Given the description of an element on the screen output the (x, y) to click on. 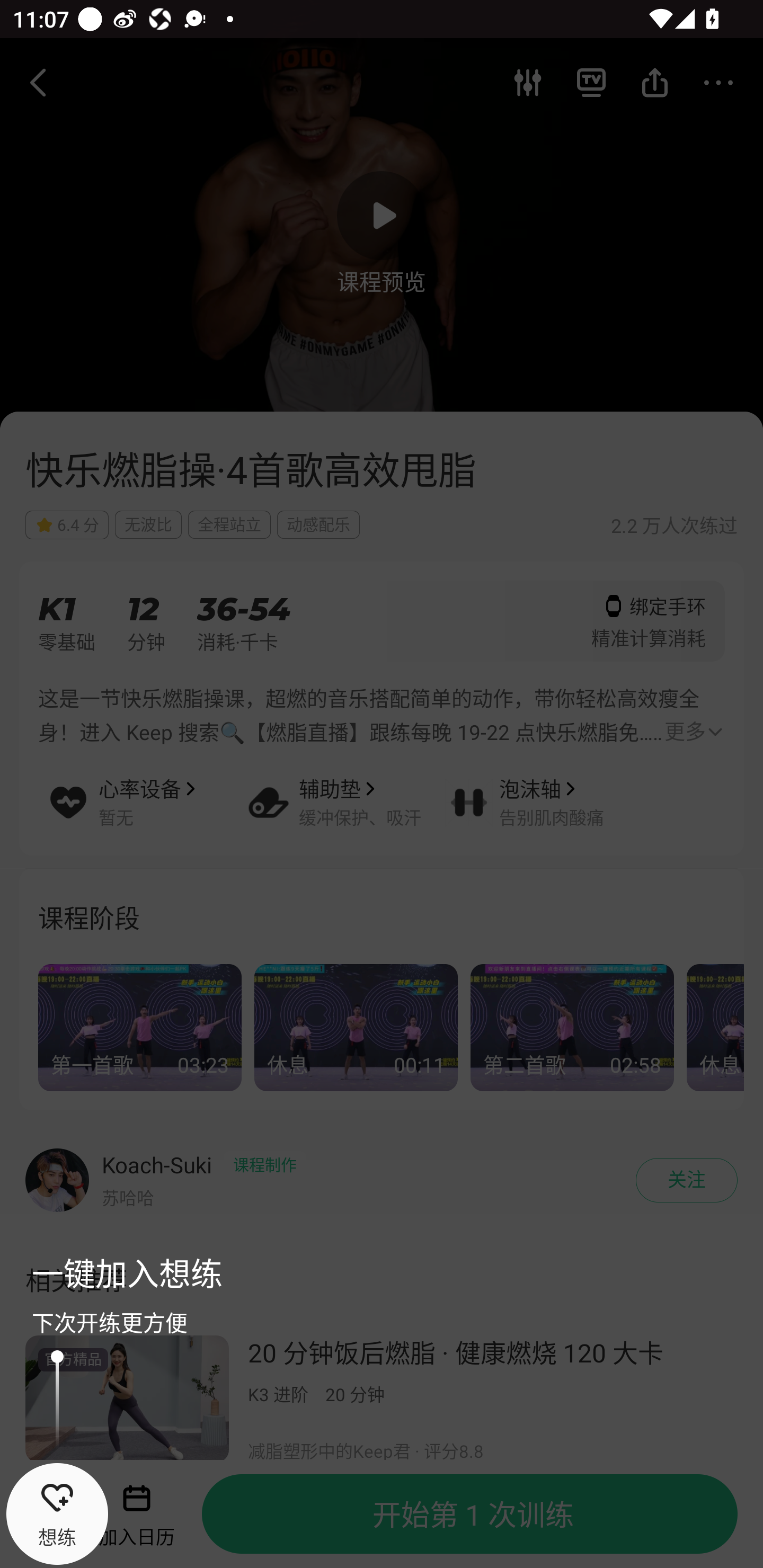
想练 (56, 1513)
